Given the description of an element on the screen output the (x, y) to click on. 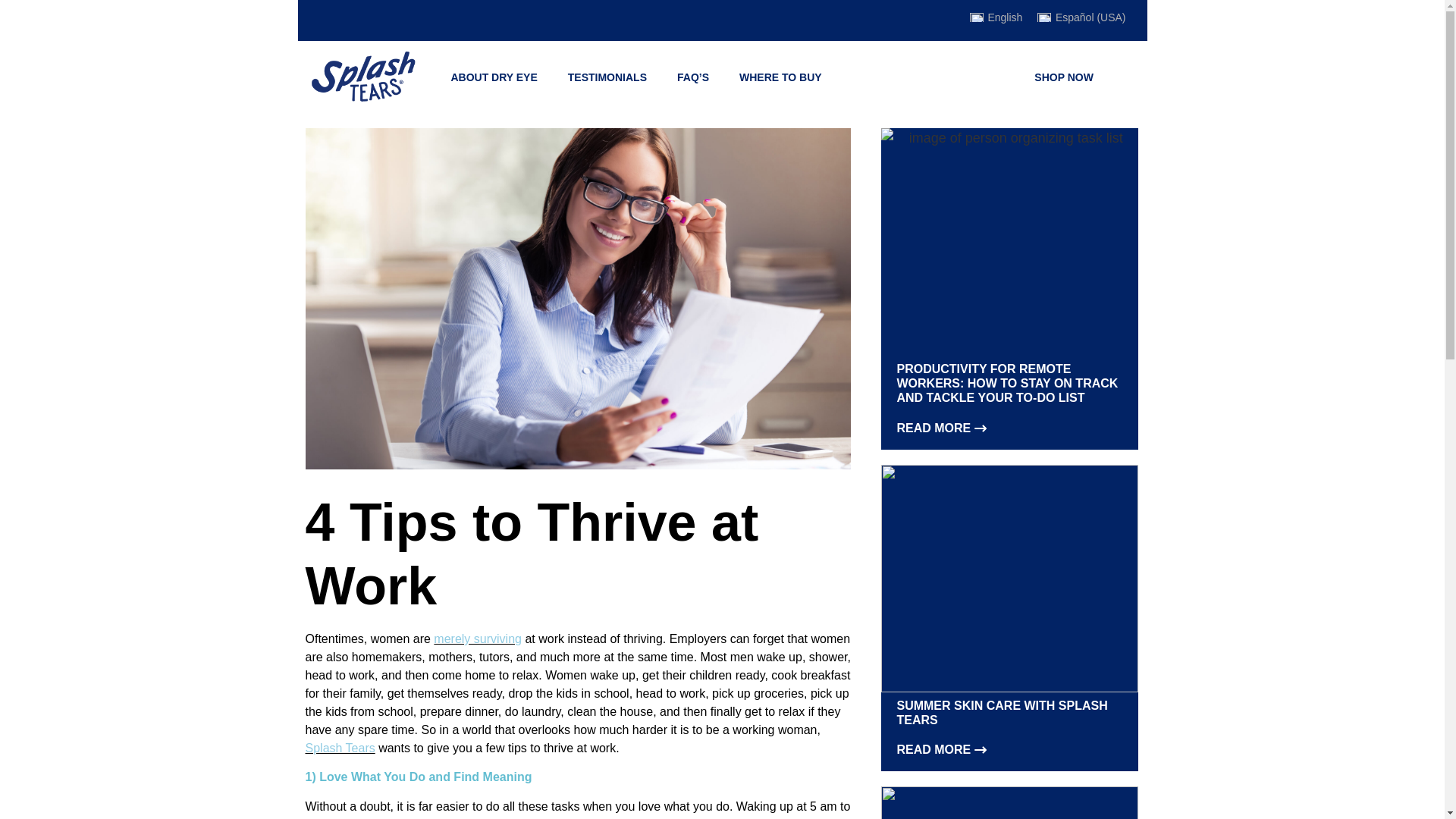
English (996, 17)
READ MORE (940, 757)
Splash Tears (339, 748)
WHERE TO BUY (780, 77)
SHOP NOW (1063, 77)
merely surviving (477, 638)
ABOUT DRY EYE (493, 77)
READ MORE (940, 435)
TESTIMONIALS (607, 77)
